Given the description of an element on the screen output the (x, y) to click on. 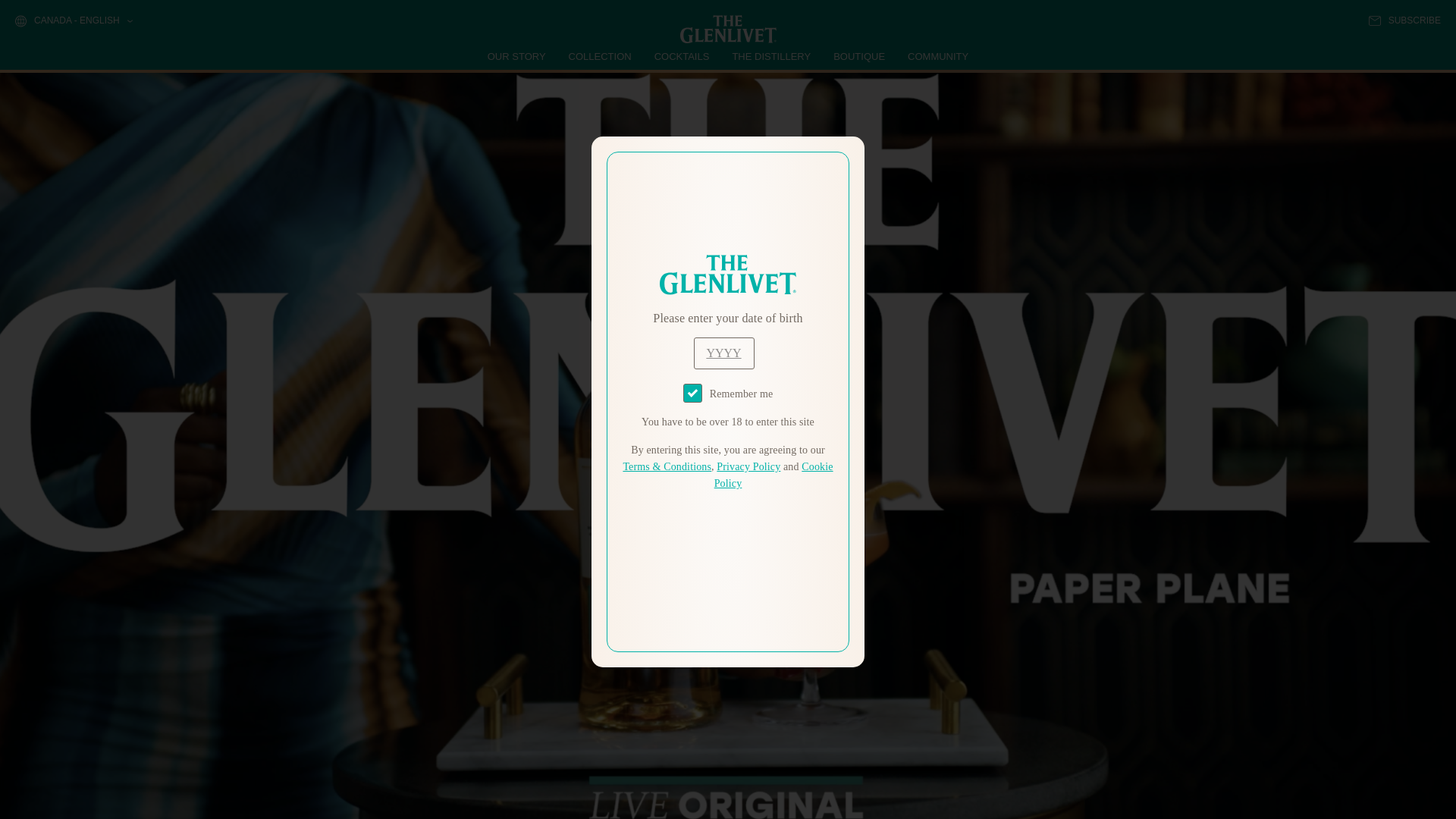
COLLECTION (600, 56)
COCKTAILS (681, 56)
CANADA - ENGLISH (73, 21)
BOUTIQUE (858, 56)
COMMUNITY (937, 56)
Cookie Policy (773, 474)
OUR STORY (516, 56)
THE DISTILLERY (771, 56)
SUBSCRIBE (1404, 20)
Privacy Policy (748, 466)
